Given the description of an element on the screen output the (x, y) to click on. 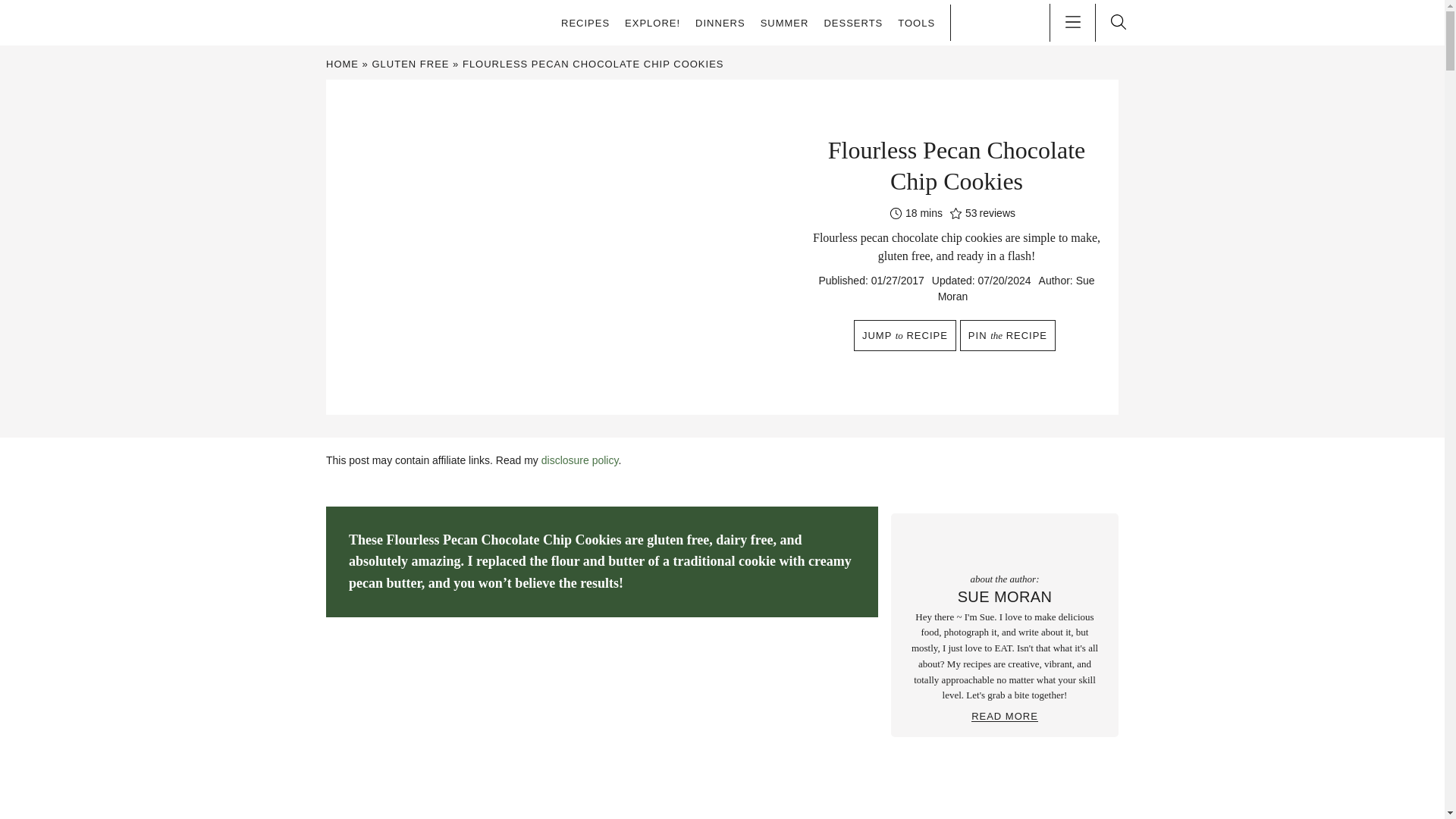
RECIPES (585, 22)
DINNERS (720, 22)
DESSERTS (853, 22)
TOOLS (916, 22)
EXPLORE! (651, 22)
SUMMER (784, 22)
